Given the description of an element on the screen output the (x, y) to click on. 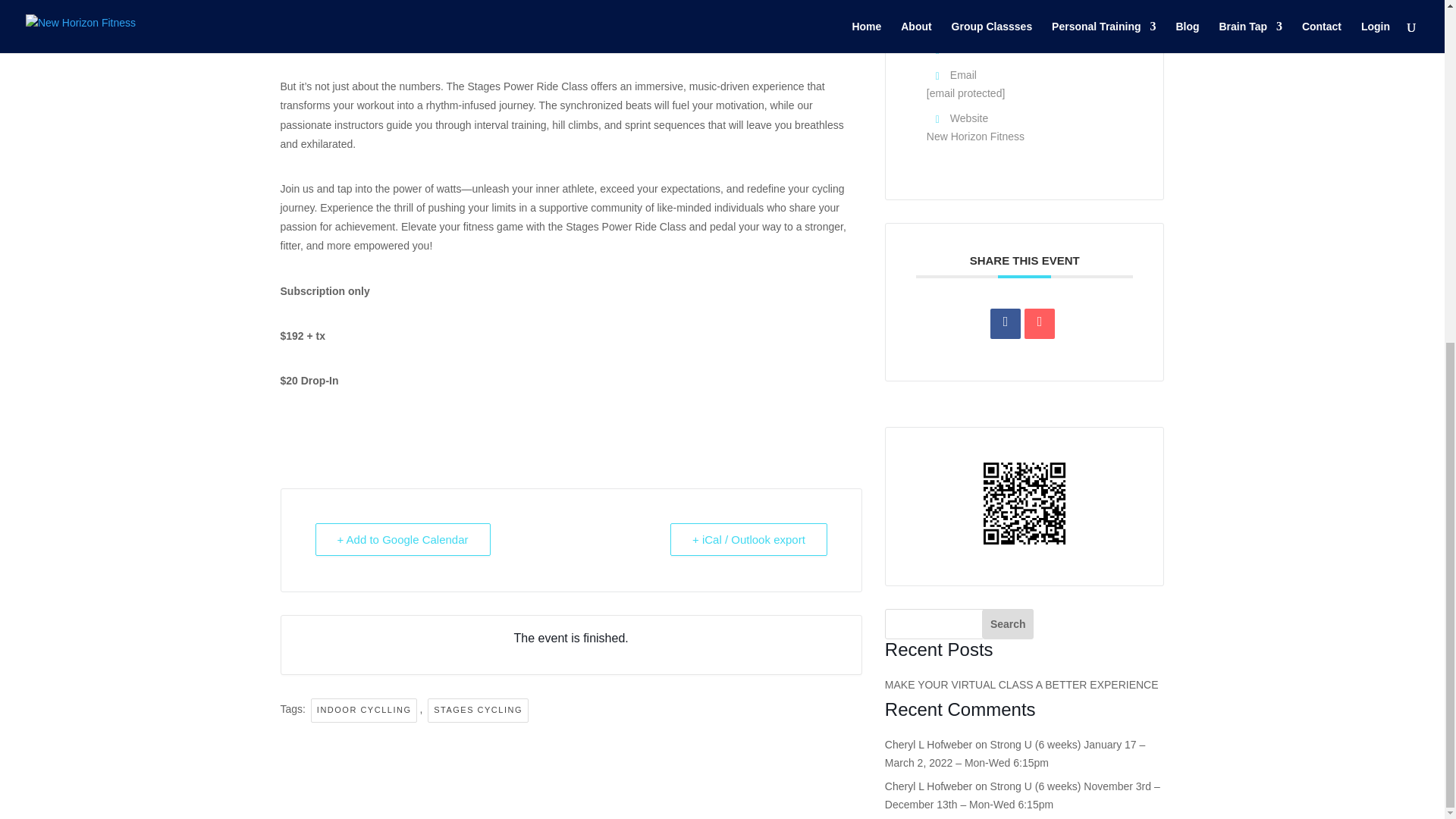
250-877-7397 (1016, 49)
MAKE YOUR VIRTUAL CLASS A BETTER EXPERIENCE (1021, 684)
New Horizon Fitness (975, 136)
STAGES CYCLING (478, 710)
Search (1007, 624)
INDOOR CYCLLING (364, 710)
Search (1007, 624)
Share on Facebook (1005, 323)
Email (1039, 323)
